Given the description of an element on the screen output the (x, y) to click on. 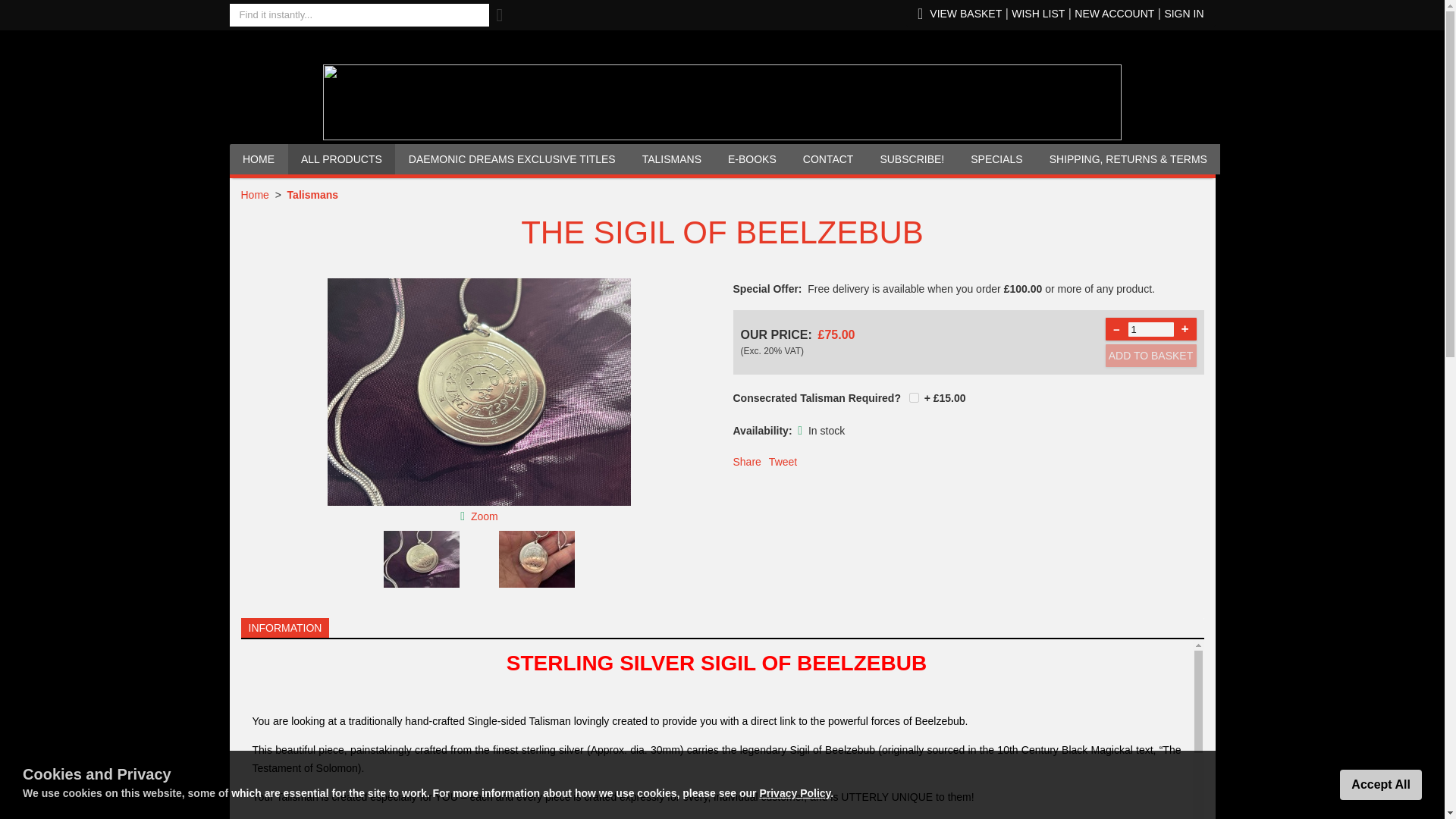
ADD TO BASKET (1150, 354)
HOME (259, 159)
Talismans (311, 194)
INFORMATION (285, 628)
The Sigil of Beelzebub (483, 516)
Zoom (483, 516)
The Sigil of Beelzebub (478, 392)
Home (255, 194)
Tweet (782, 461)
Share (746, 461)
1 (1150, 328)
1 (913, 397)
